Given the description of an element on the screen output the (x, y) to click on. 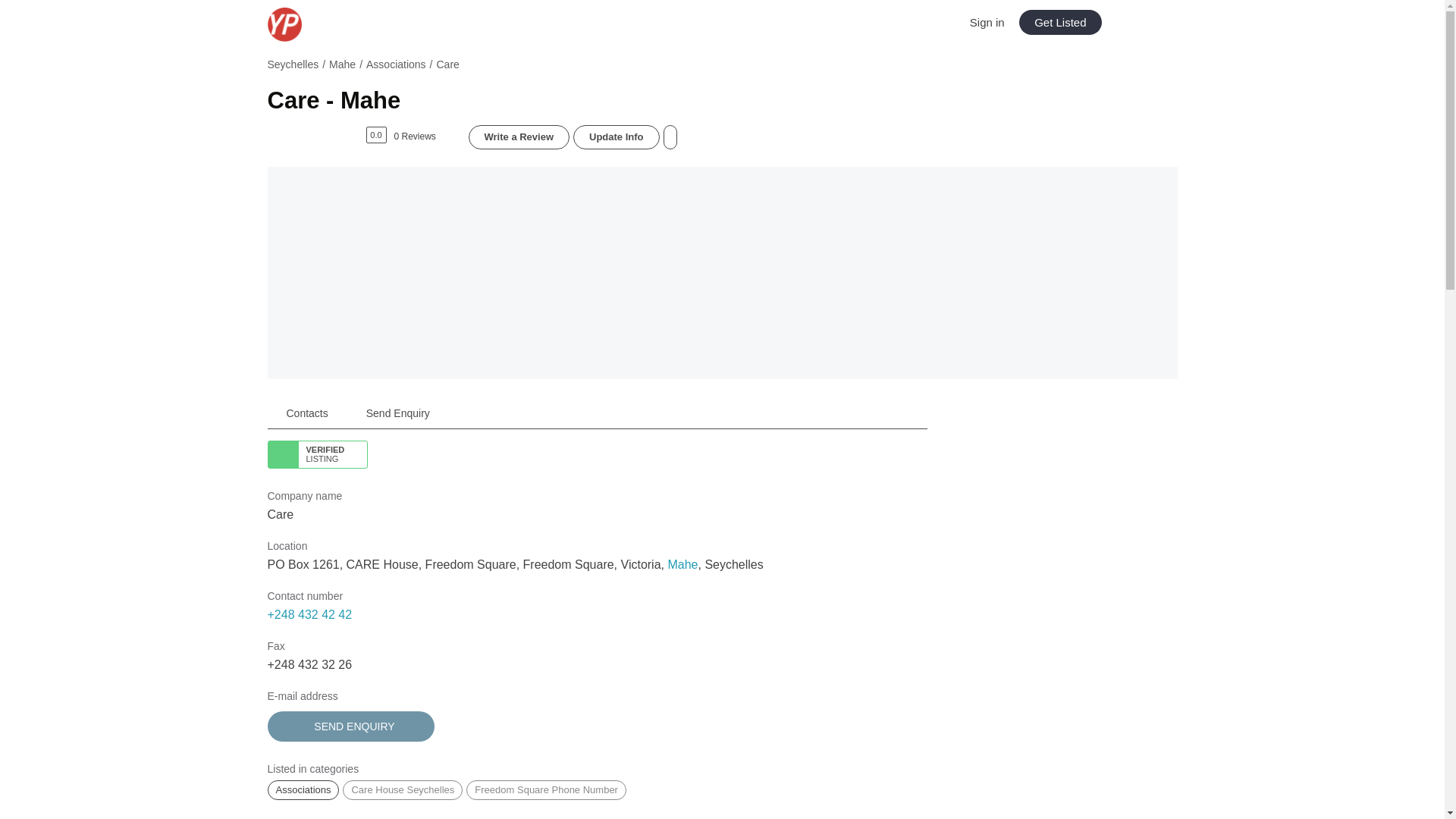
Mahe (681, 563)
Freedom Square Phone Number (545, 790)
Seychelles (292, 64)
Send Enquiry (349, 726)
Sign in (986, 21)
Seychelles Business Directory - Seychelles YP (319, 24)
Send Enquiry (397, 413)
Get Listed (1059, 22)
Get Listed (1059, 22)
